Given the description of an element on the screen output the (x, y) to click on. 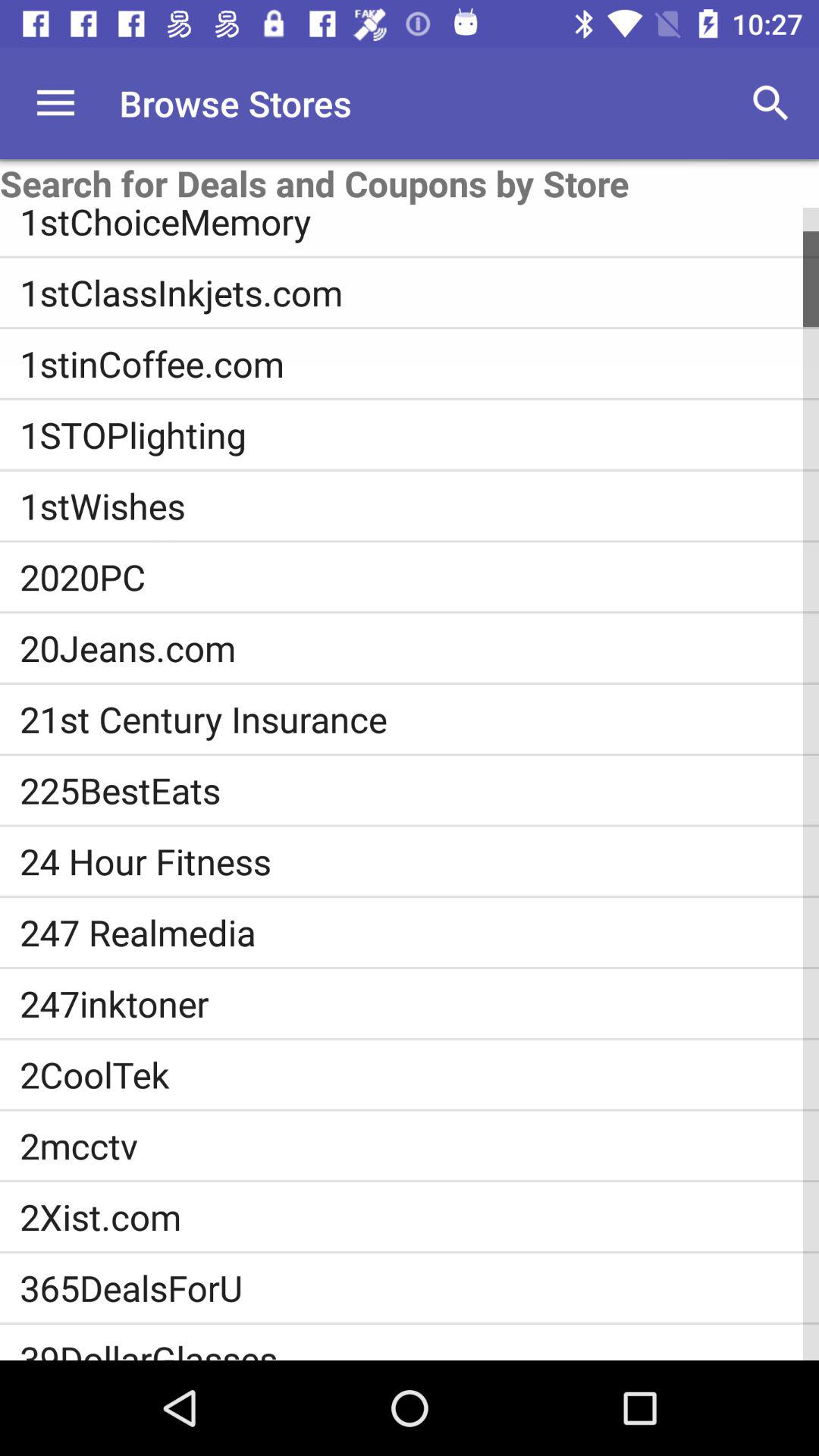
options menu (55, 103)
